Given the description of an element on the screen output the (x, y) to click on. 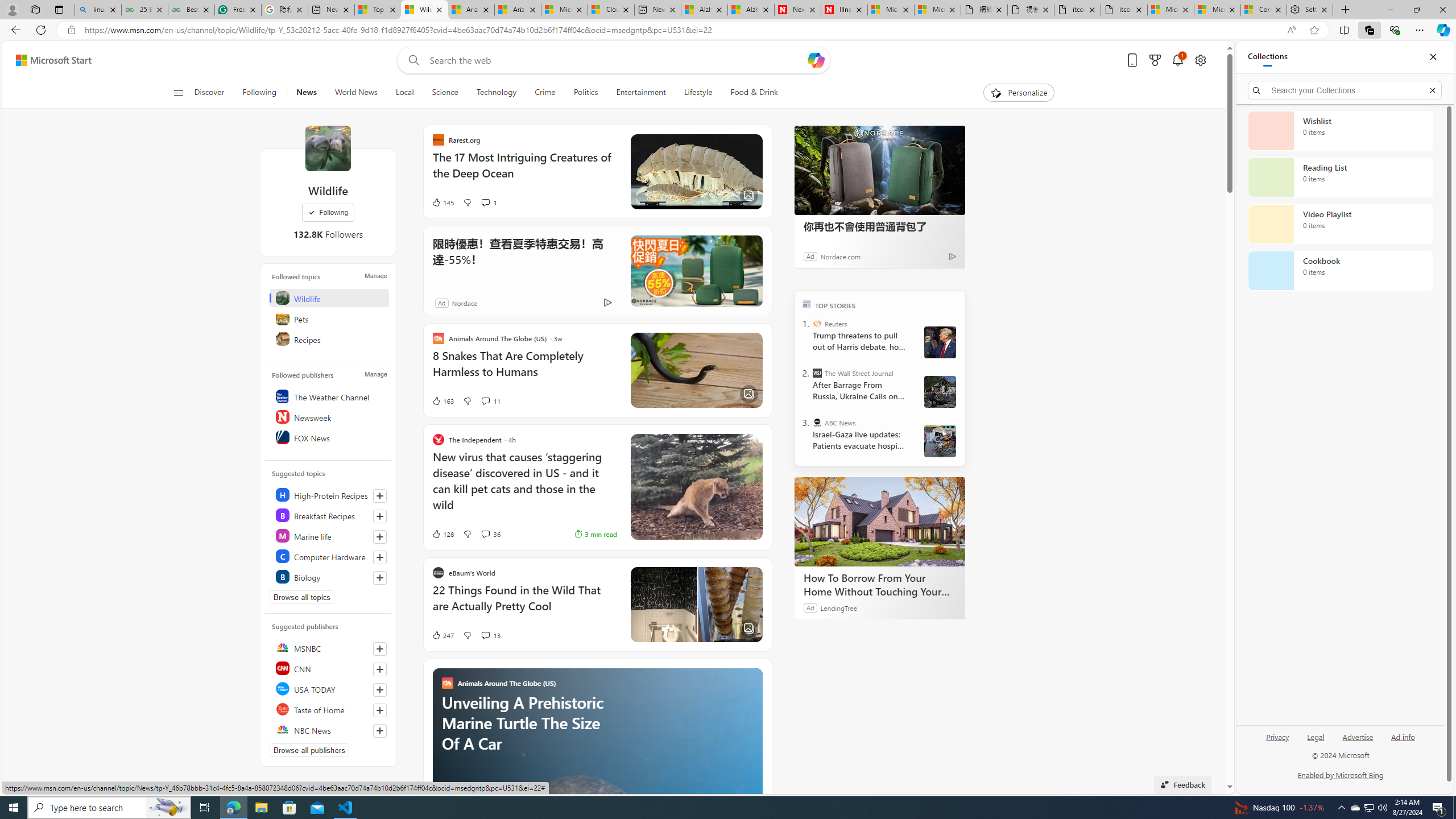
Follow this source (379, 730)
The Weather Channel (328, 396)
Reuters (816, 323)
Consumer Health Data Privacy Policy (1263, 9)
